Given the description of an element on the screen output the (x, y) to click on. 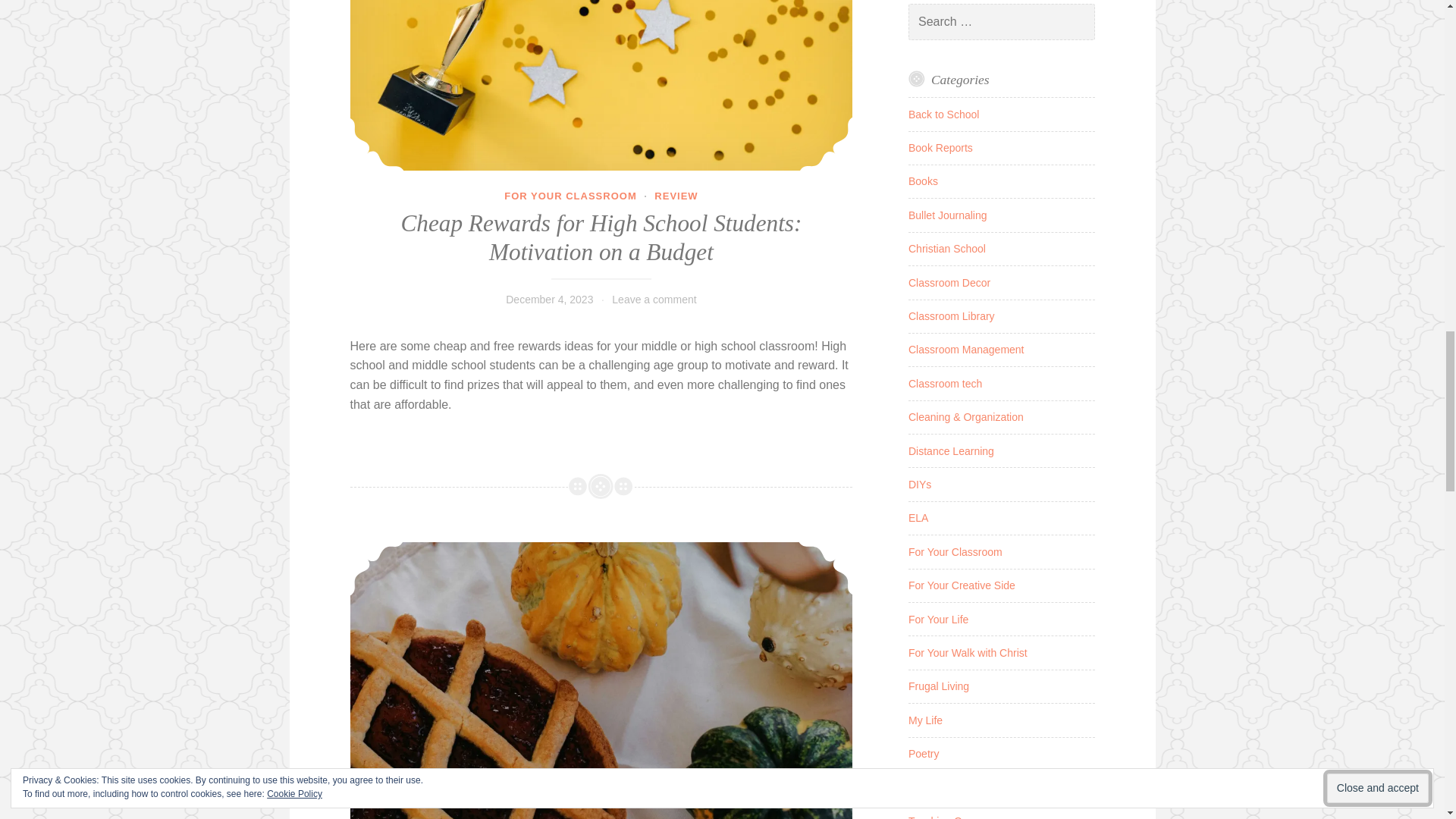
December 4, 2023 (548, 299)
FOR YOUR CLASSROOM (570, 195)
REVIEW (675, 195)
Leave a comment (653, 299)
